Given the description of an element on the screen output the (x, y) to click on. 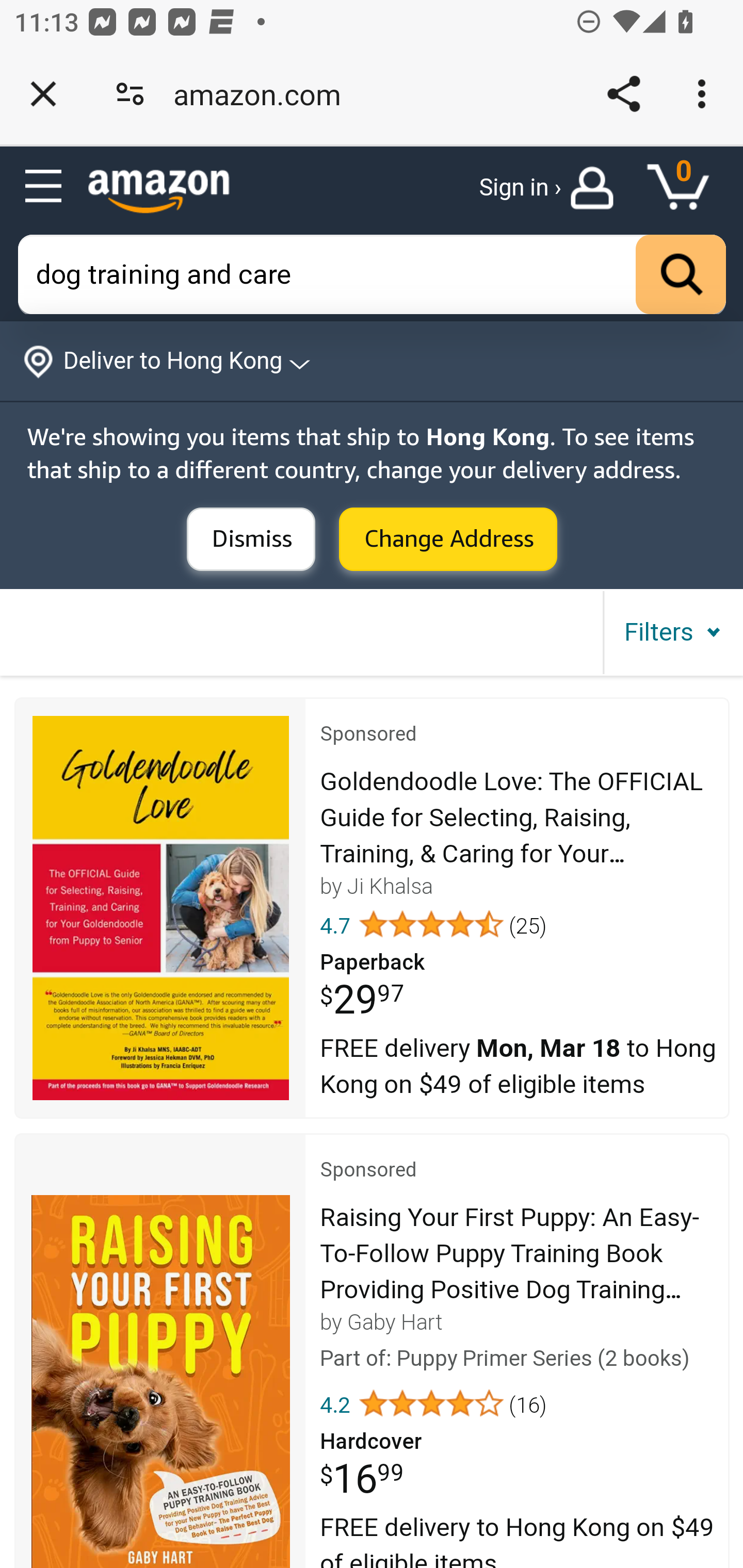
Close tab (43, 93)
Share (623, 93)
Customize and control Google Chrome (705, 93)
Connection is secure (129, 93)
amazon.com (264, 93)
Open Menu (44, 187)
Sign in › (520, 188)
your account (596, 188)
Cart 0 (687, 188)
Amazon (158, 191)
Clear search keywords (372, 275)
Go (681, 275)
Submit (251, 539)
Submit (447, 539)
Filters (672, 632)
